Given the description of an element on the screen output the (x, y) to click on. 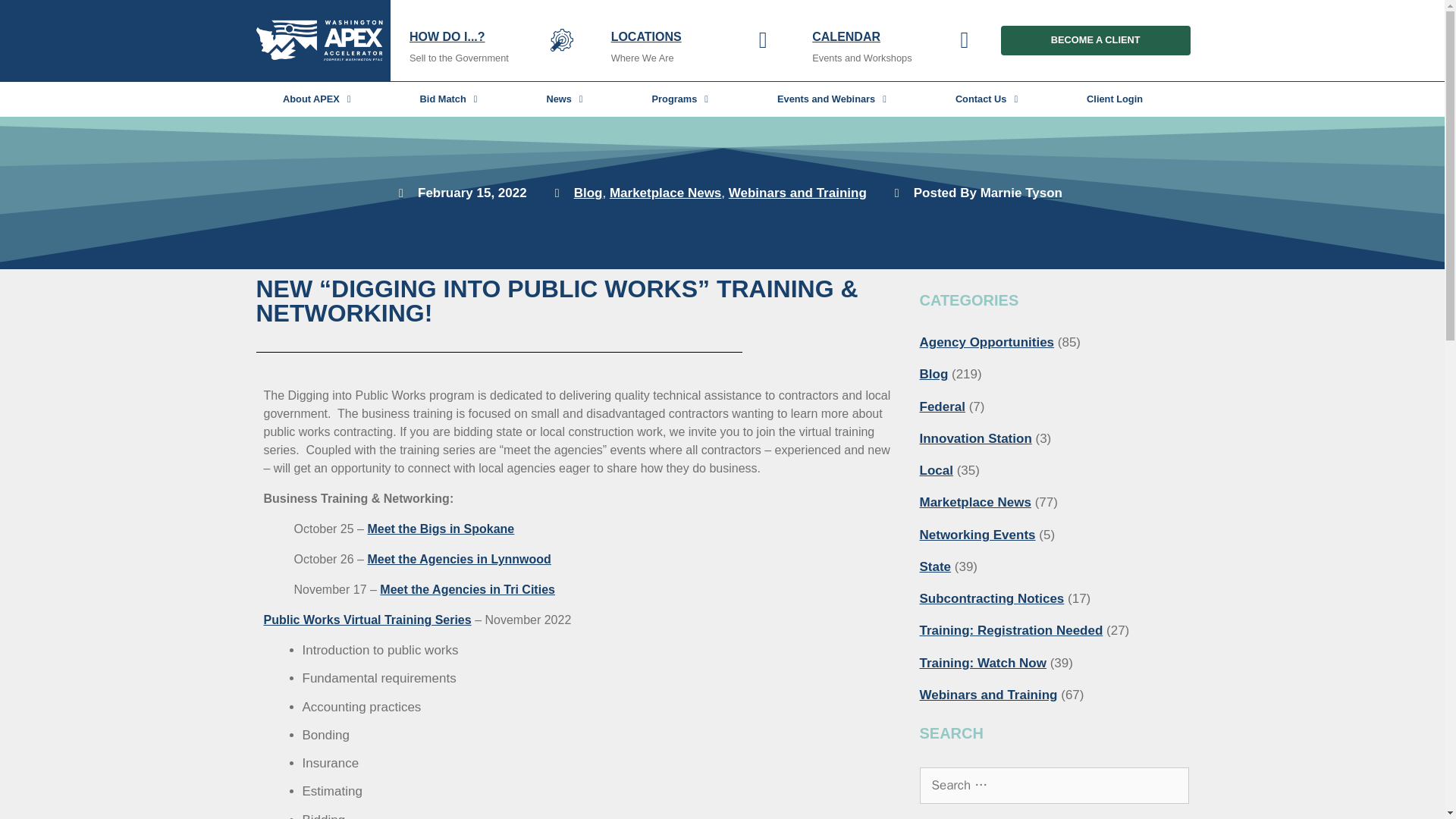
Client Login (1114, 99)
LOCATIONS (646, 36)
Search for: (1053, 785)
Contact Us (985, 99)
About APEX (316, 99)
Bid Match (448, 99)
News (564, 99)
Events and Webinars (831, 99)
HOW DO I...? (446, 36)
BECOME A CLIENT (1096, 39)
CALENDAR (846, 36)
Programs (679, 99)
